Given the description of an element on the screen output the (x, y) to click on. 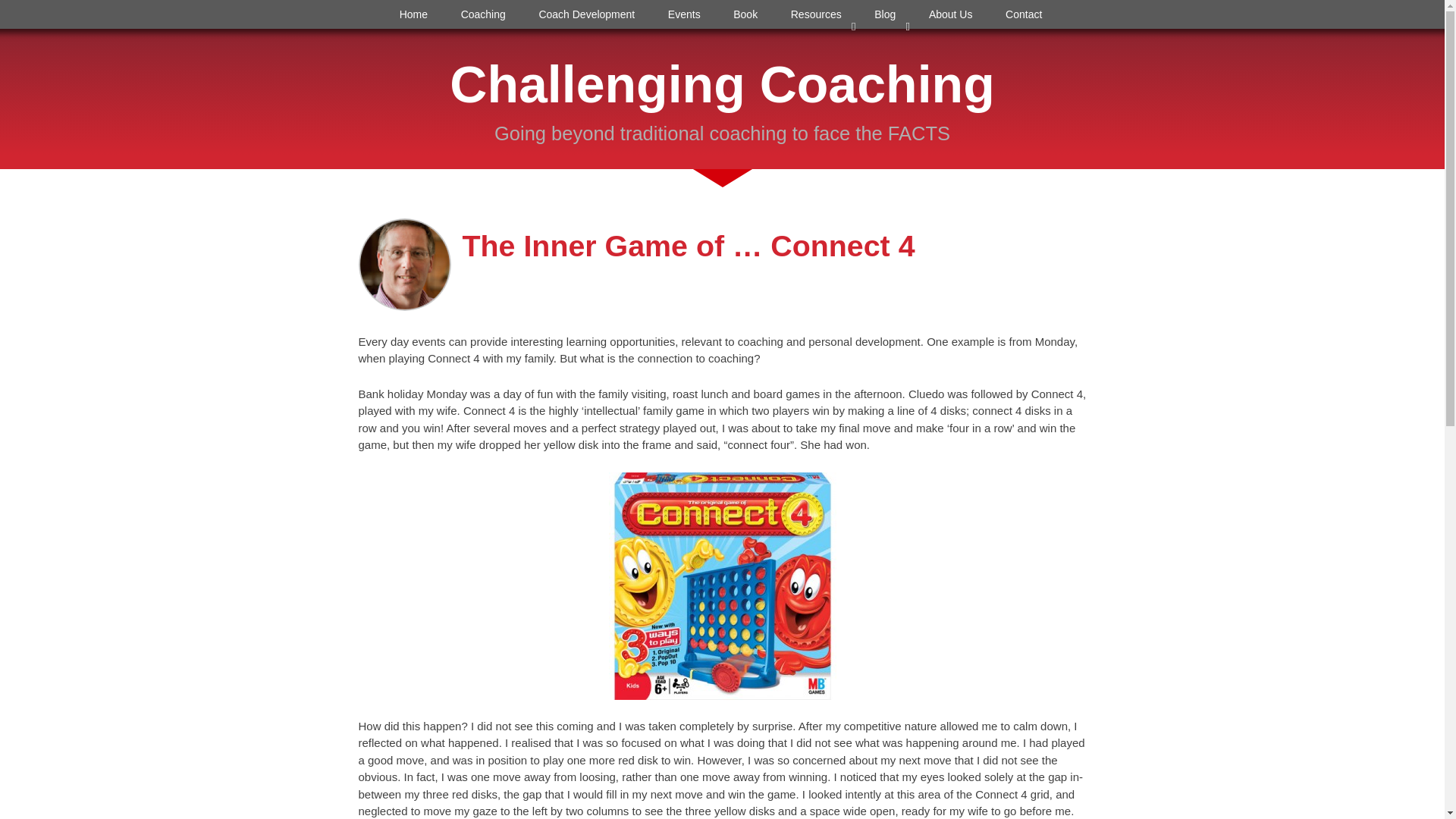
Resources (816, 14)
Contact (1023, 14)
About Us (950, 14)
Coach Development (586, 14)
Coaching (483, 14)
Home (413, 14)
Book (745, 14)
Challenging Coaching (721, 84)
Challenging Coaching (721, 84)
Events (683, 14)
